Given the description of an element on the screen output the (x, y) to click on. 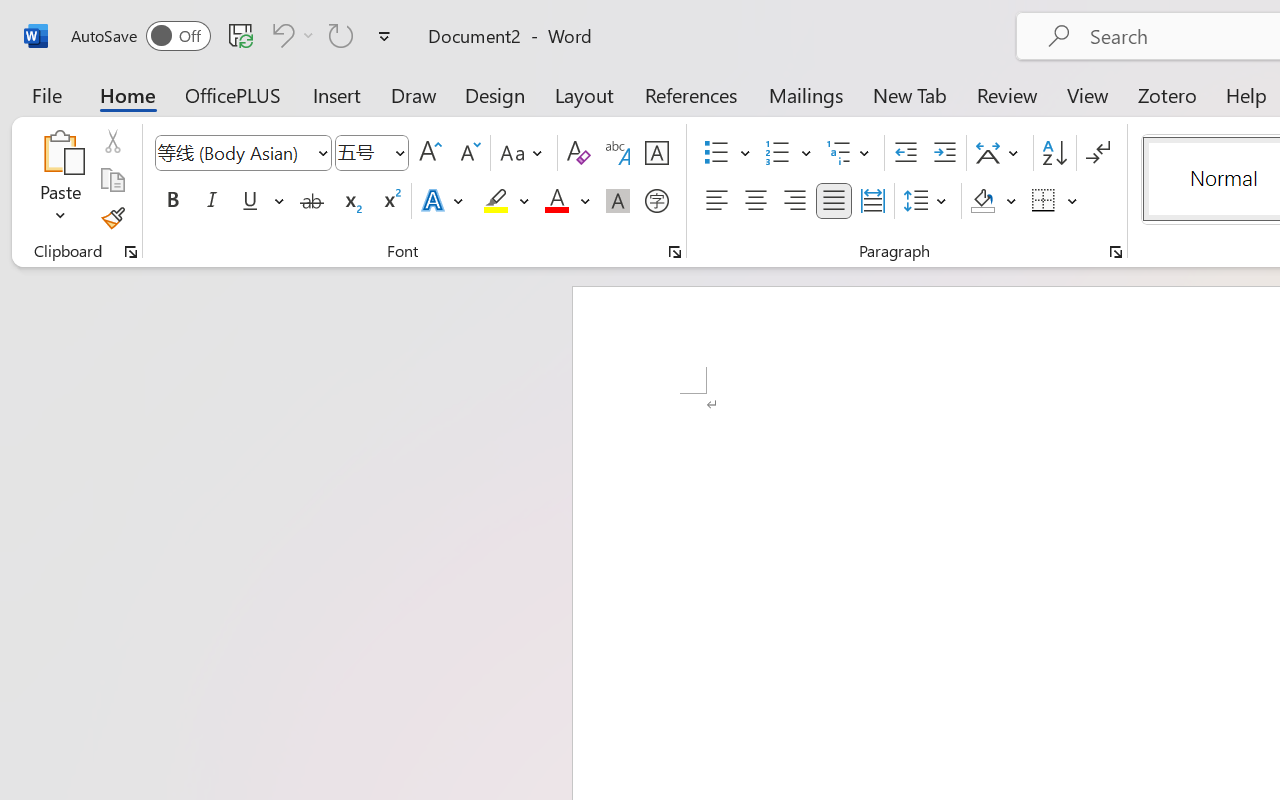
Review (1007, 94)
Bullets (716, 153)
Distributed (872, 201)
Shading (993, 201)
Can't Undo (280, 35)
Shrink Font (468, 153)
Text Highlight Color Yellow (495, 201)
Layout (584, 94)
Grow Font (430, 153)
Draw (413, 94)
Text Effects and Typography (444, 201)
Character Border (656, 153)
Decrease Indent (906, 153)
Subscript (350, 201)
